Given the description of an element on the screen output the (x, y) to click on. 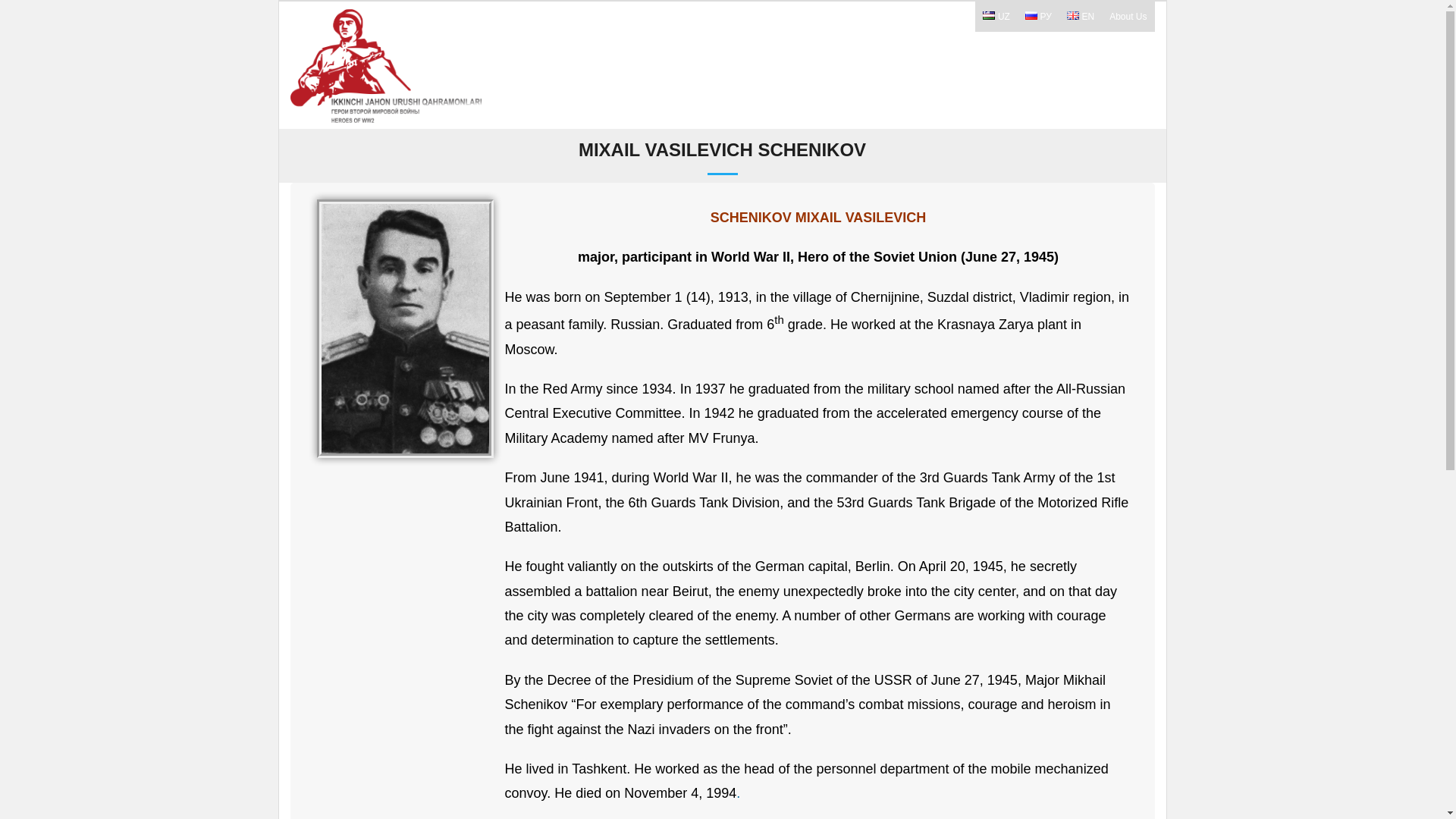
EN (1080, 16)
About Us (1128, 16)
UZ (996, 16)
